Given the description of an element on the screen output the (x, y) to click on. 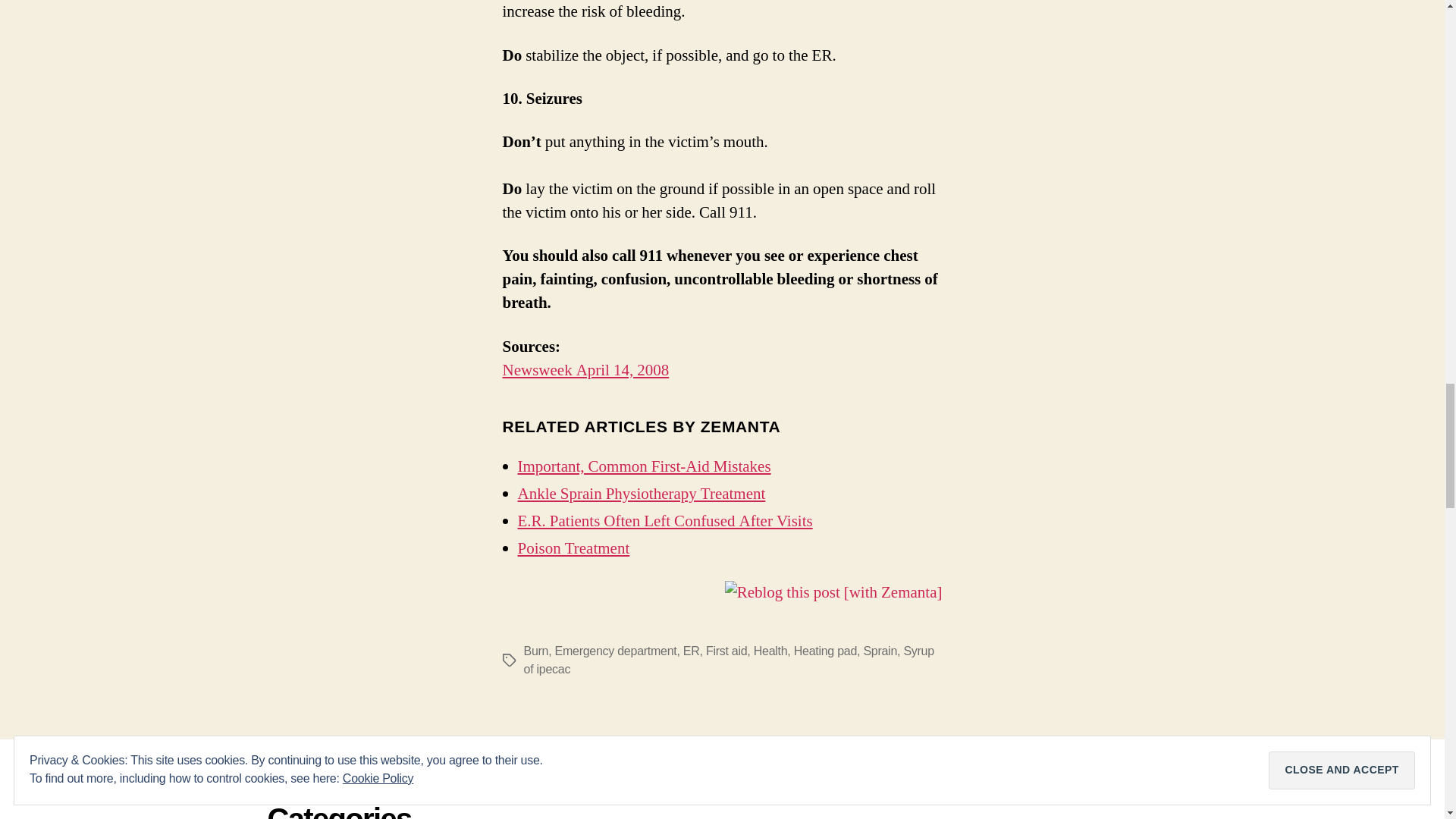
Health (770, 650)
Burn (535, 650)
Newsweek April 14, 2008 (585, 370)
Important, Common First-Aid Mistakes (643, 466)
First aid (726, 650)
Poison Treatment (572, 548)
Emergency department (615, 650)
Ankle Sprain Physiotherapy Treatment (640, 494)
E.R. Patients Often Left Confused After Visits (664, 521)
ER (691, 650)
